Given the description of an element on the screen output the (x, y) to click on. 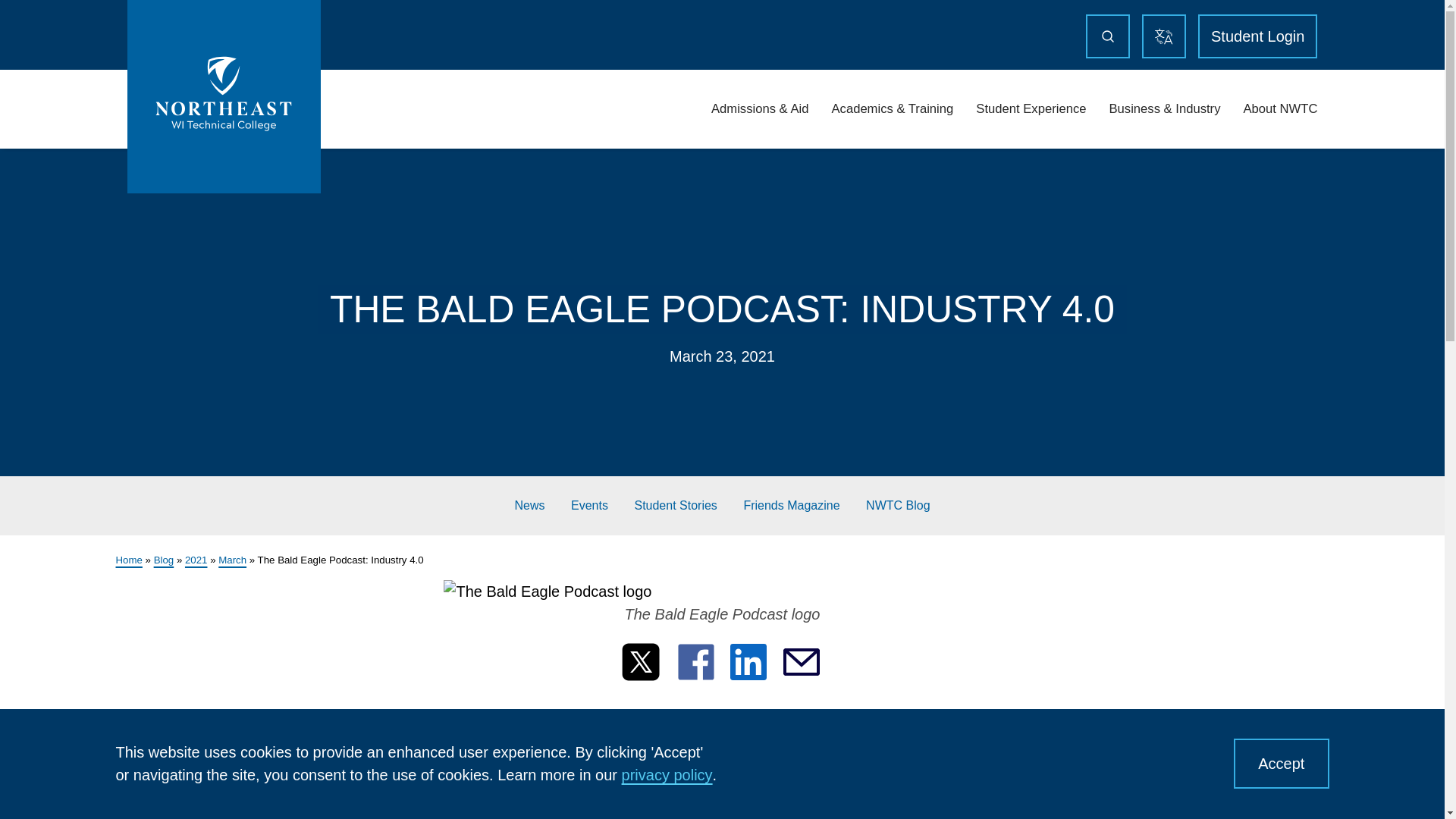
Student Login (1257, 36)
Accept (1280, 763)
Student Experience (1030, 109)
Facebook-color Created with Sketch. (695, 662)
Translate this page (1163, 36)
Northeast Wisconsin Technical College (224, 96)
Skip to content (16, 16)
privacy policy (667, 774)
